Given the description of an element on the screen output the (x, y) to click on. 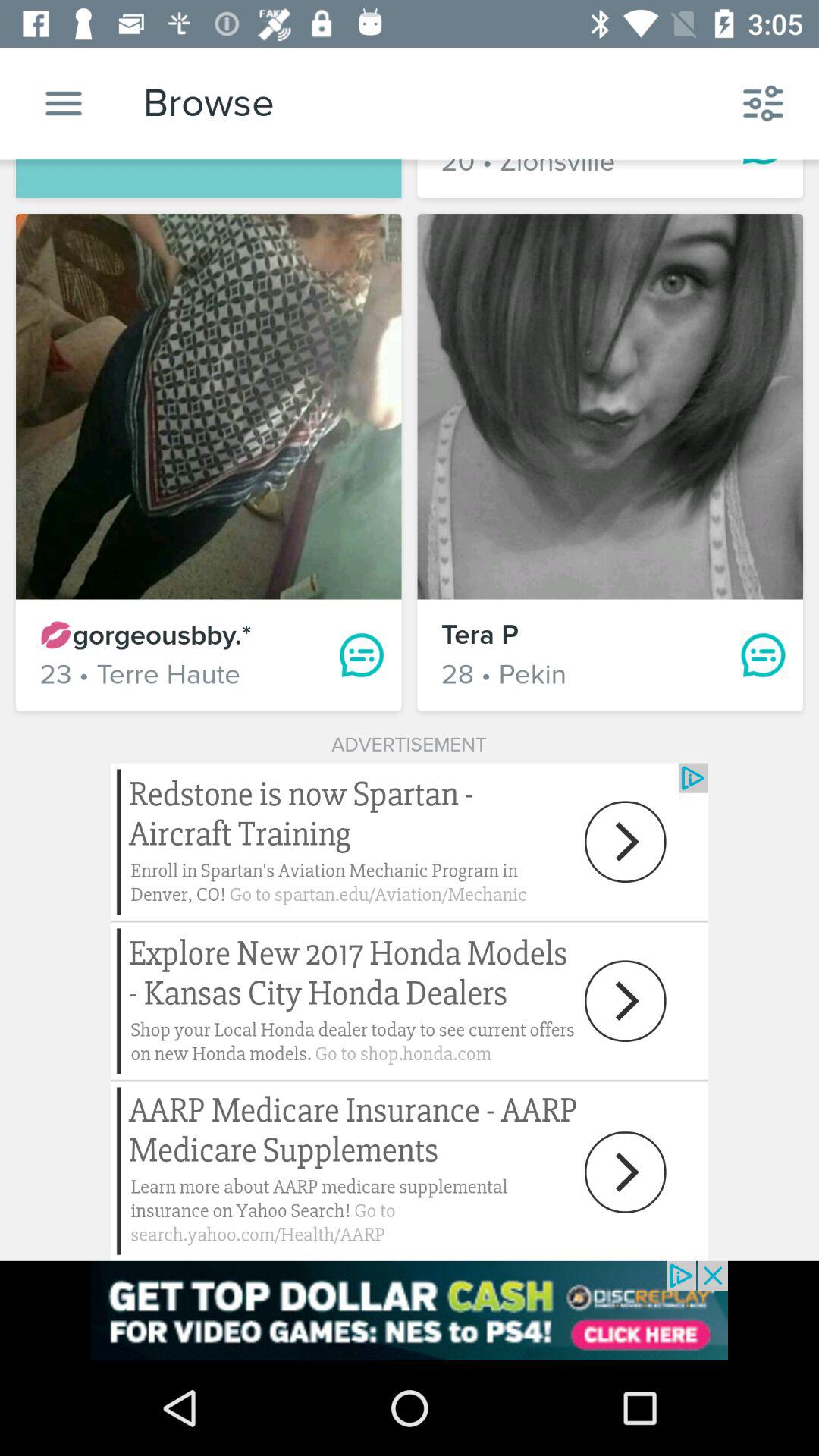
click on the icon below the second image (763, 655)
click on the menu icon beside browse (63, 103)
click on the first image (208, 406)
